Given the description of an element on the screen output the (x, y) to click on. 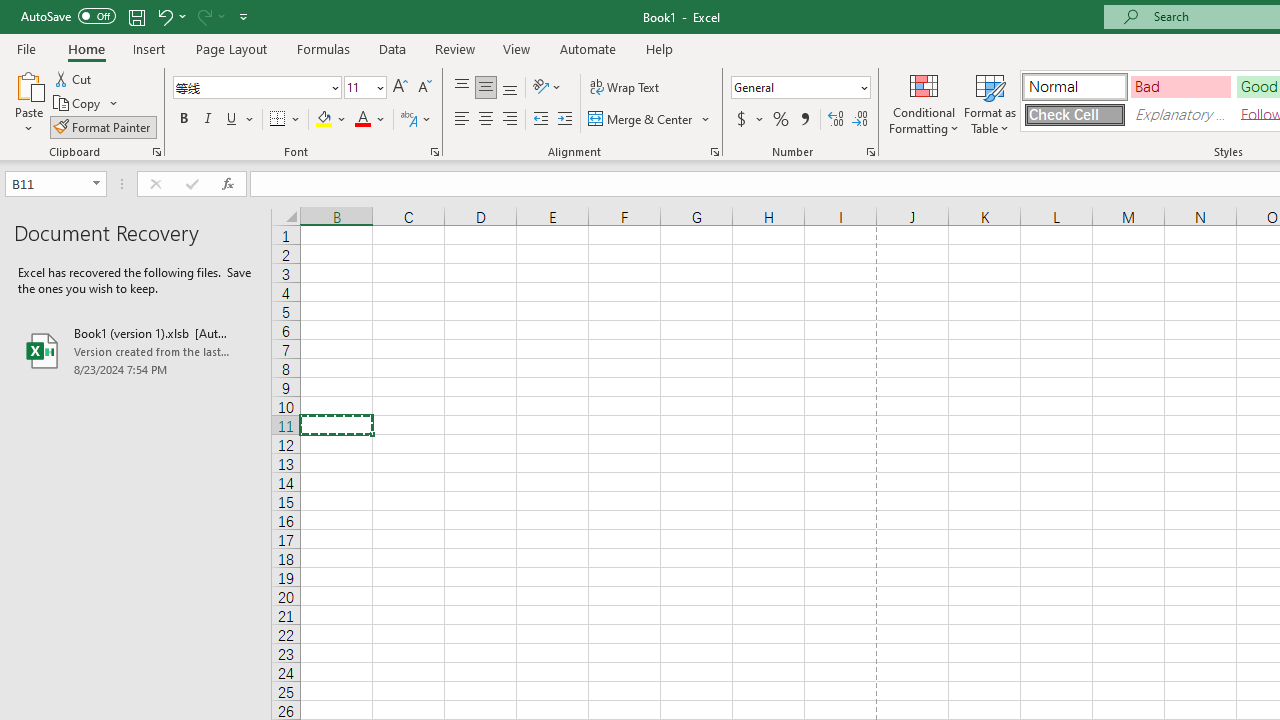
Bold (183, 119)
Increase Indent (565, 119)
Increase Font Size (399, 87)
Font Size (358, 87)
Align Right (509, 119)
Align Left (461, 119)
Conditional Formatting (924, 102)
Accounting Number Format (749, 119)
